Given the description of an element on the screen output the (x, y) to click on. 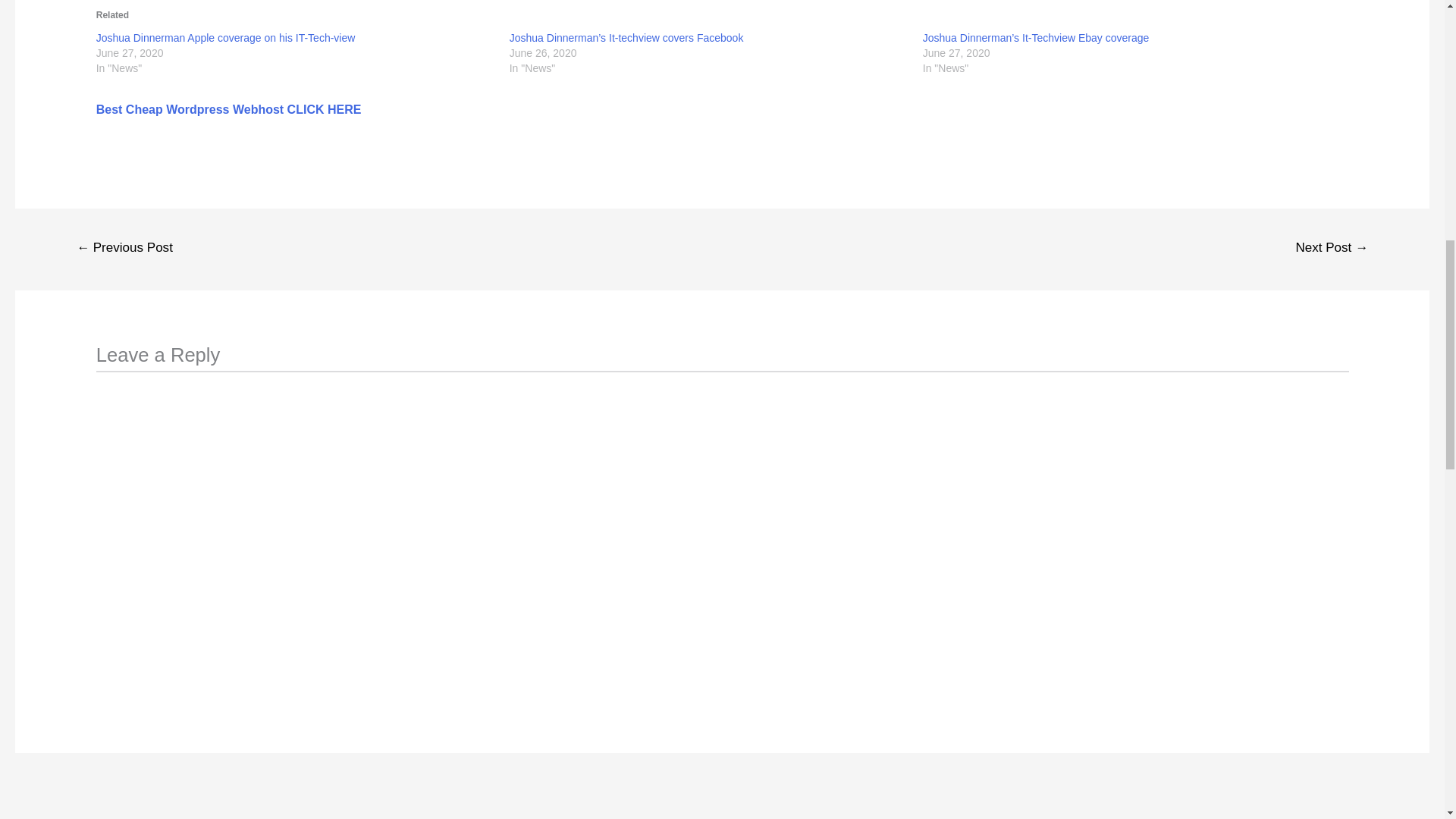
Joshua Dinnerman Apple coverage on his IT-Tech-view (225, 37)
Joshua Dinnerman Apple coverage on his IT-Tech-view (225, 37)
Best Cheap Wordpress Webhost CLICK HERE (228, 109)
